Given the description of an element on the screen output the (x, y) to click on. 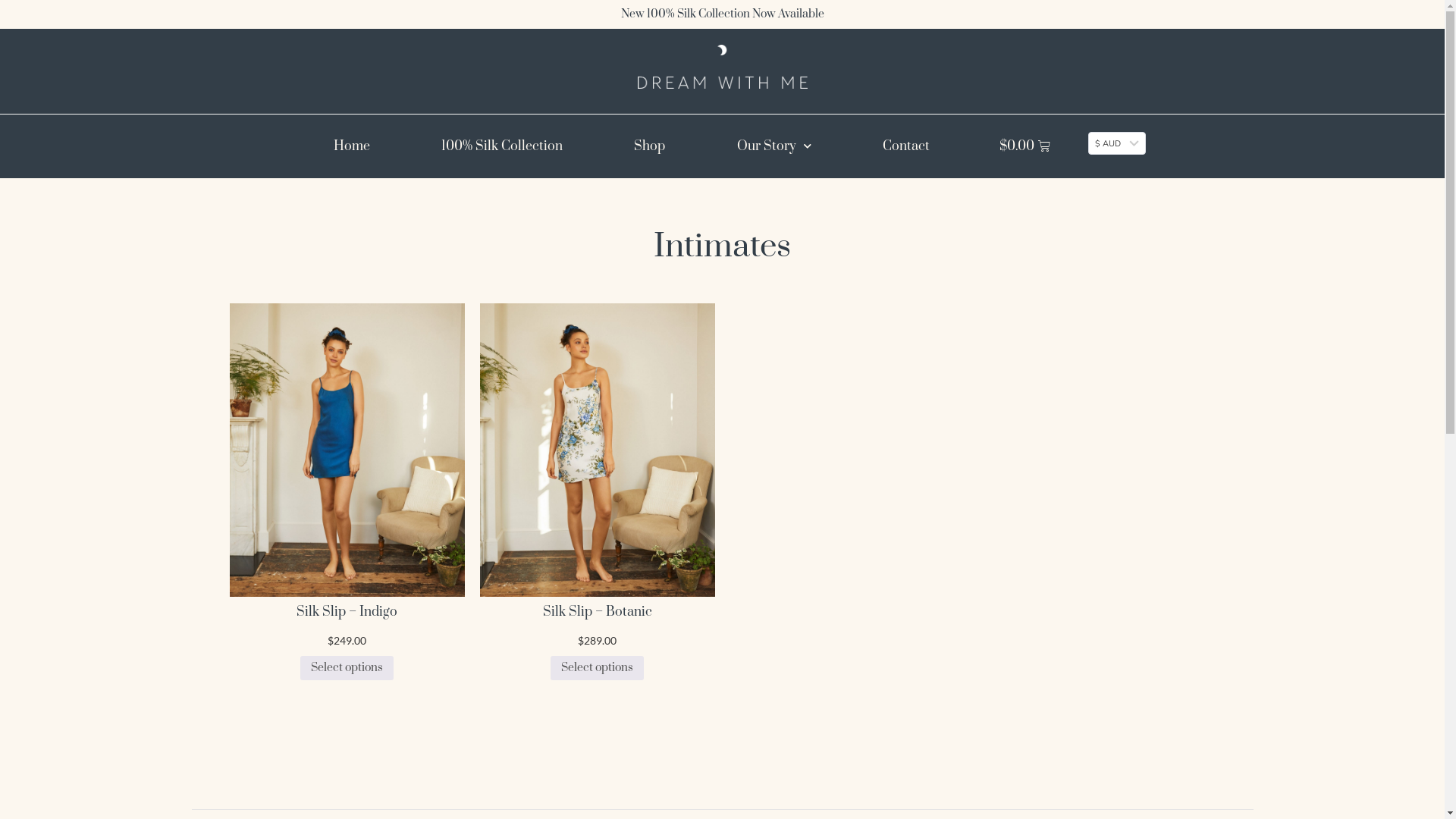
$0.00 Element type: text (1024, 146)
Shop Element type: text (649, 146)
Select options Element type: text (346, 667)
Contact Element type: text (906, 146)
Select options Element type: text (596, 667)
New 100% Silk Collection Now Available Element type: text (721, 13)
Our Story Element type: text (773, 146)
100% Silk Collection Element type: text (501, 146)
Home Element type: text (350, 146)
